Given the description of an element on the screen output the (x, y) to click on. 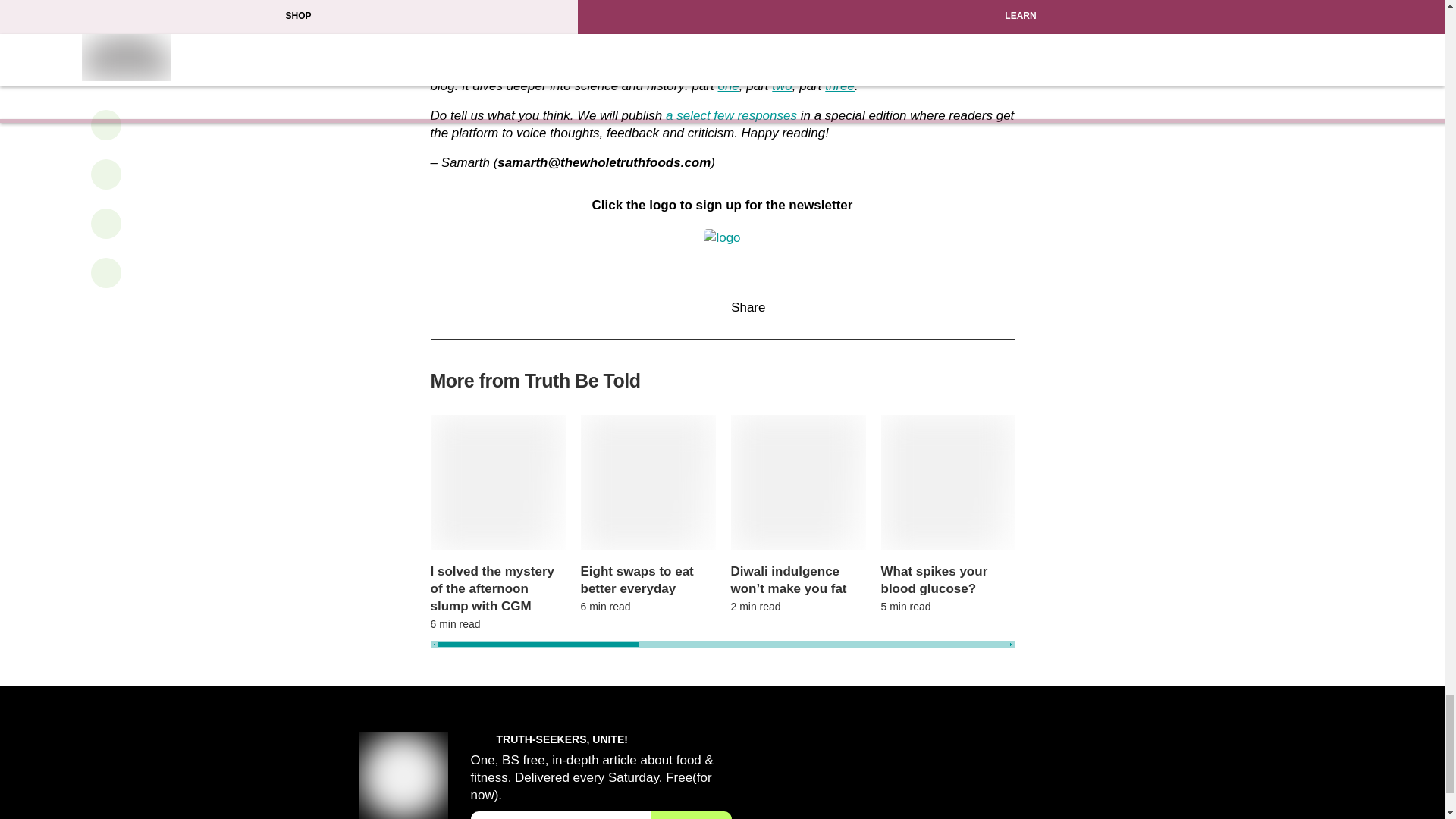
two (781, 85)
one (727, 85)
a select few responses (730, 115)
Upgrade My Food (904, 38)
Swetha Sivakumar (595, 21)
Eight swaps to eat better everyday (648, 579)
I solved the mystery of the afternoon slump with CGM (498, 588)
three (839, 85)
